Given the description of an element on the screen output the (x, y) to click on. 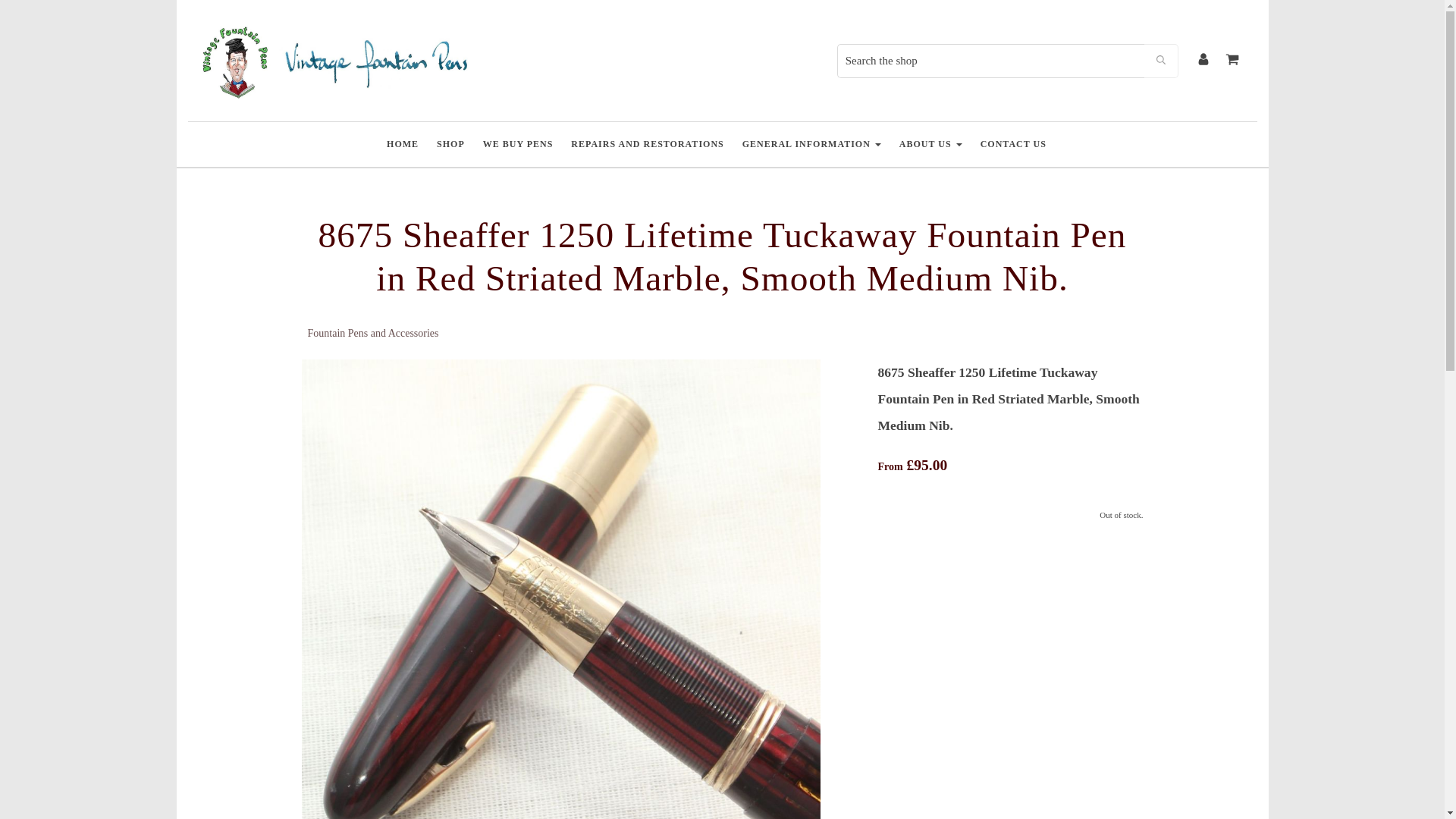
HOME (402, 143)
ABOUT US (930, 143)
SHOP (451, 143)
REPAIRS AND RESTORATIONS (647, 143)
WE BUY PENS (518, 143)
GENERAL INFORMATION (811, 143)
CONTACT US (1013, 143)
